Given the description of an element on the screen output the (x, y) to click on. 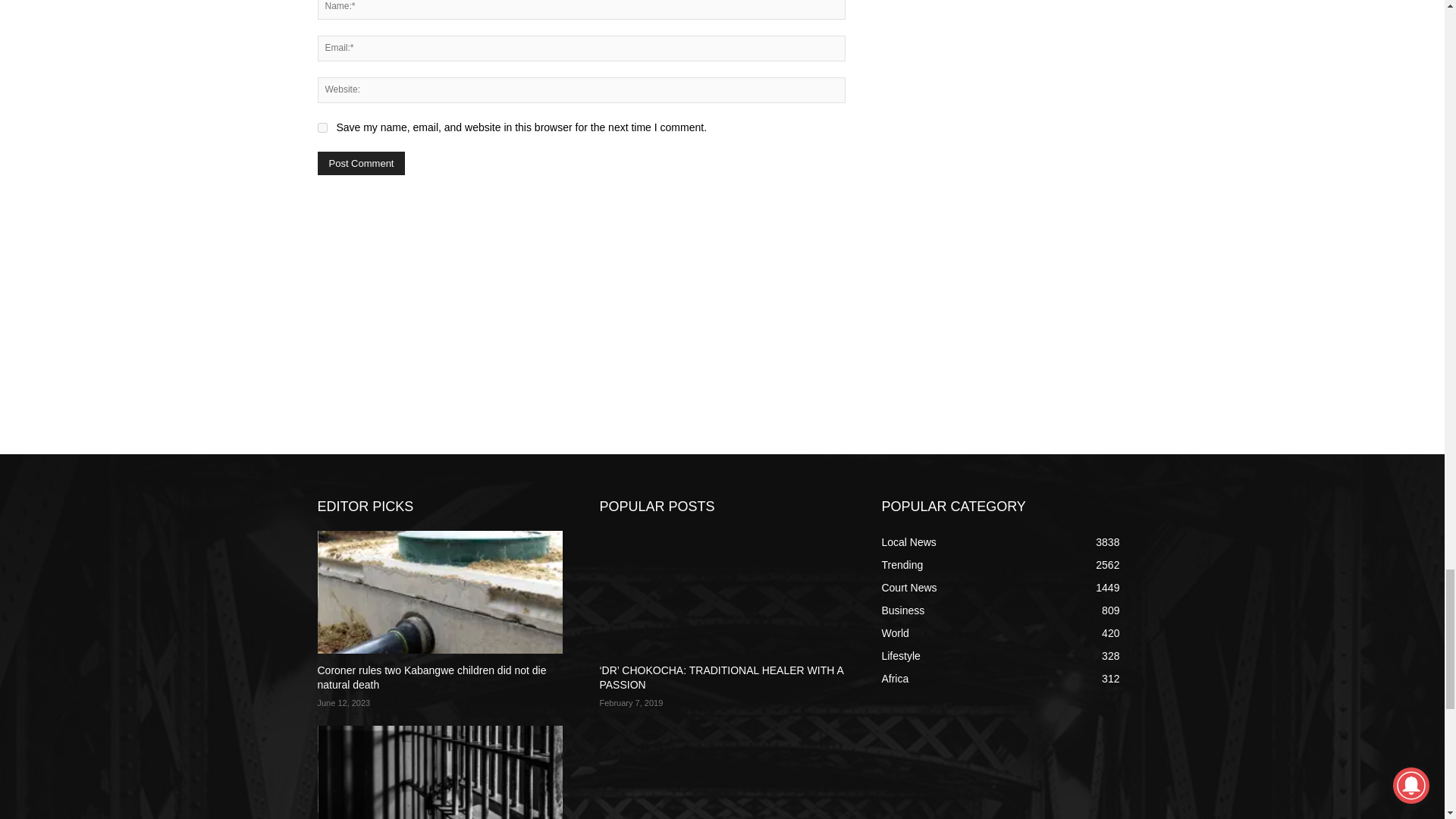
yes (321, 127)
Post Comment (360, 163)
